Given the description of an element on the screen output the (x, y) to click on. 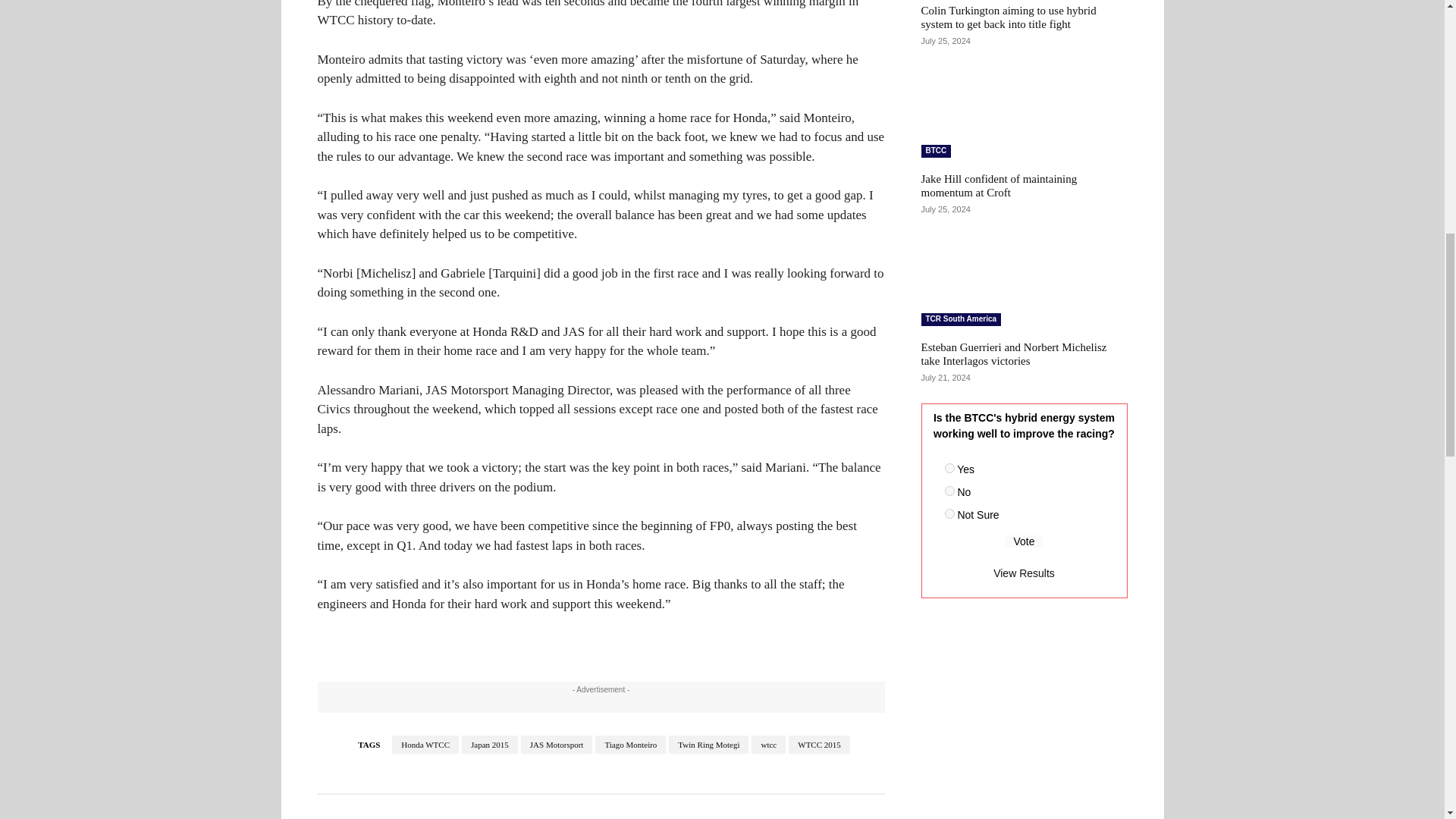
123 (949, 513)
122 (949, 491)
   Vote    (1023, 541)
121 (949, 468)
